Given the description of an element on the screen output the (x, y) to click on. 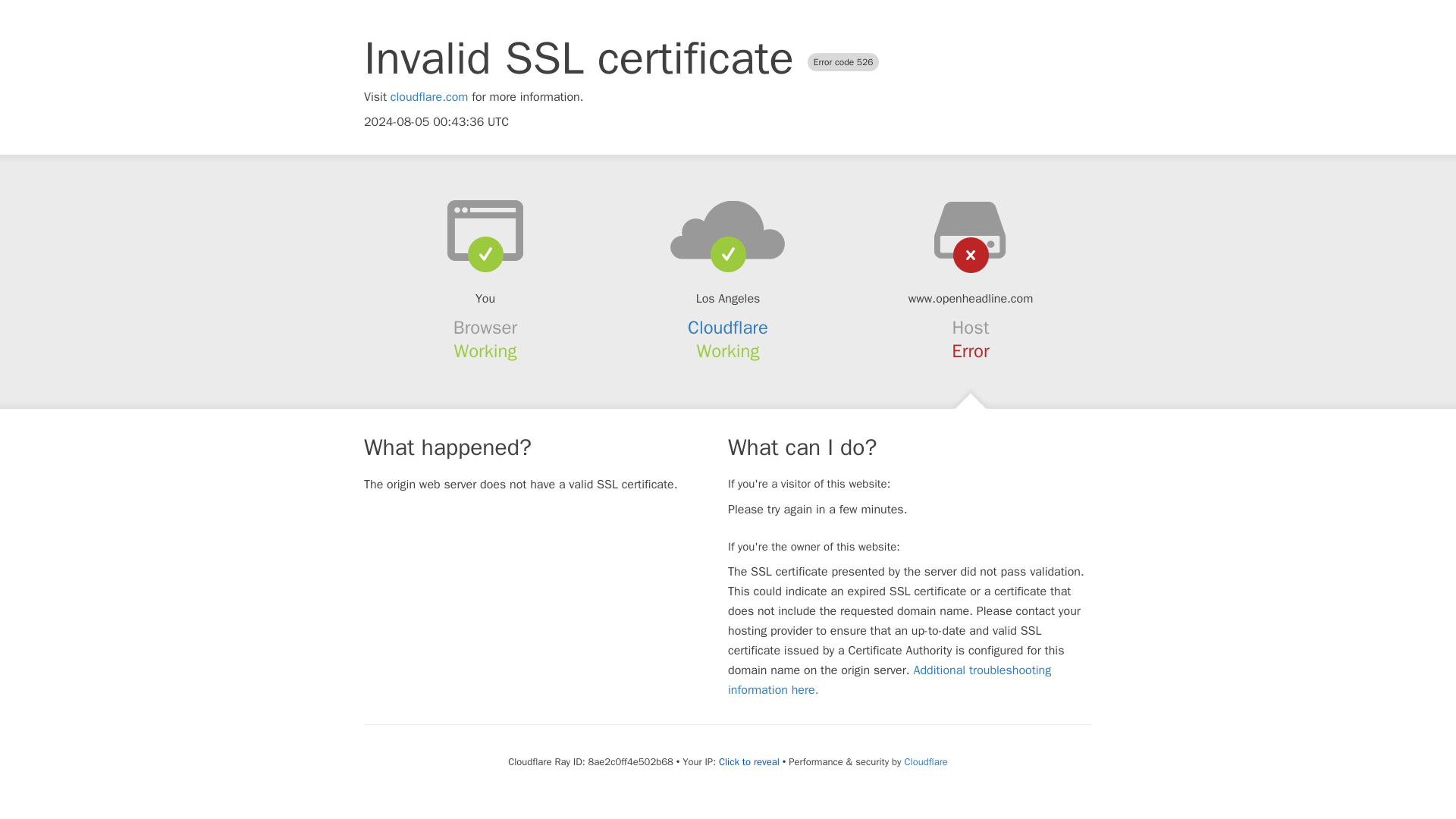
Cloudflare (727, 327)
Cloudflare (925, 761)
cloudflare.com (429, 96)
Additional troubleshooting information here. (889, 679)
Click to reveal (748, 762)
